Given the description of an element on the screen output the (x, y) to click on. 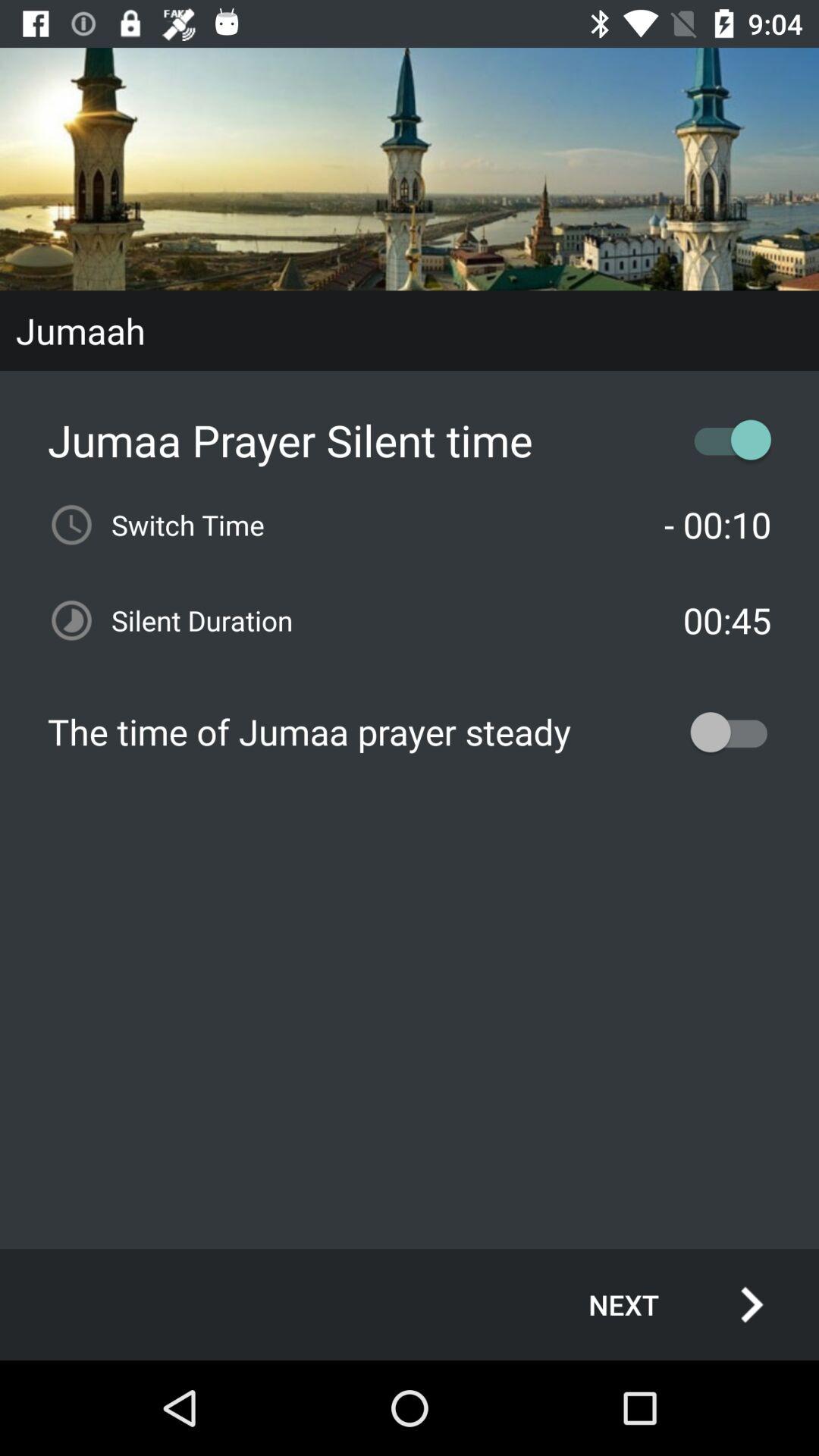
flip until next button (659, 1304)
